Given the description of an element on the screen output the (x, y) to click on. 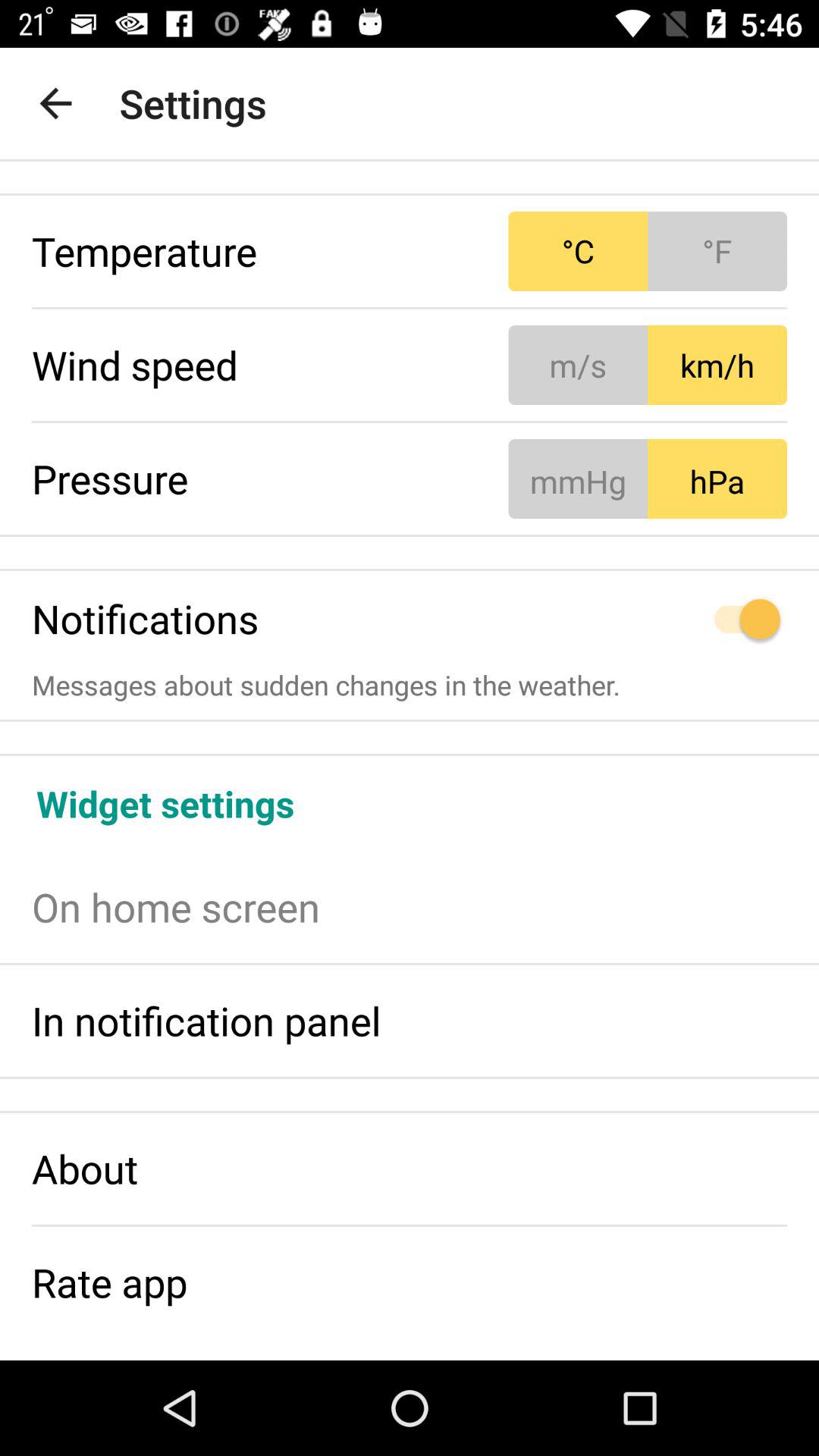
choose item to the left of settings item (55, 103)
